Given the description of an element on the screen output the (x, y) to click on. 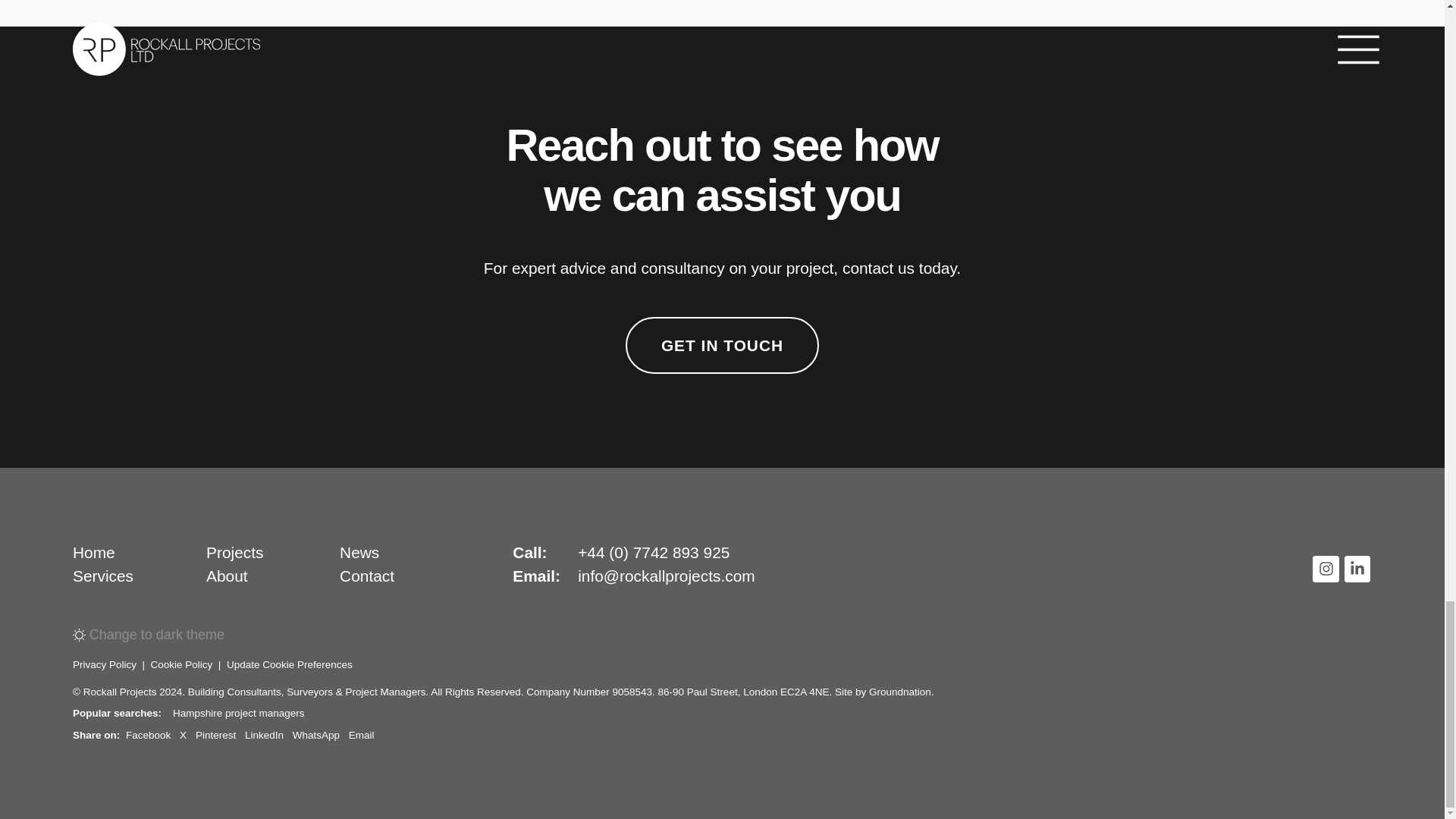
News (358, 552)
Services (102, 575)
Change to dark theme (156, 634)
WhatsApp (315, 734)
About (226, 575)
Home (93, 552)
Pinterest (215, 734)
Hampshire project managers (238, 713)
Email (361, 734)
Facebook (147, 734)
GET IN TOUCH (722, 345)
Projects (234, 552)
Cookie Policy (181, 664)
Contact (366, 575)
LinkedIn (263, 734)
